Given the description of an element on the screen output the (x, y) to click on. 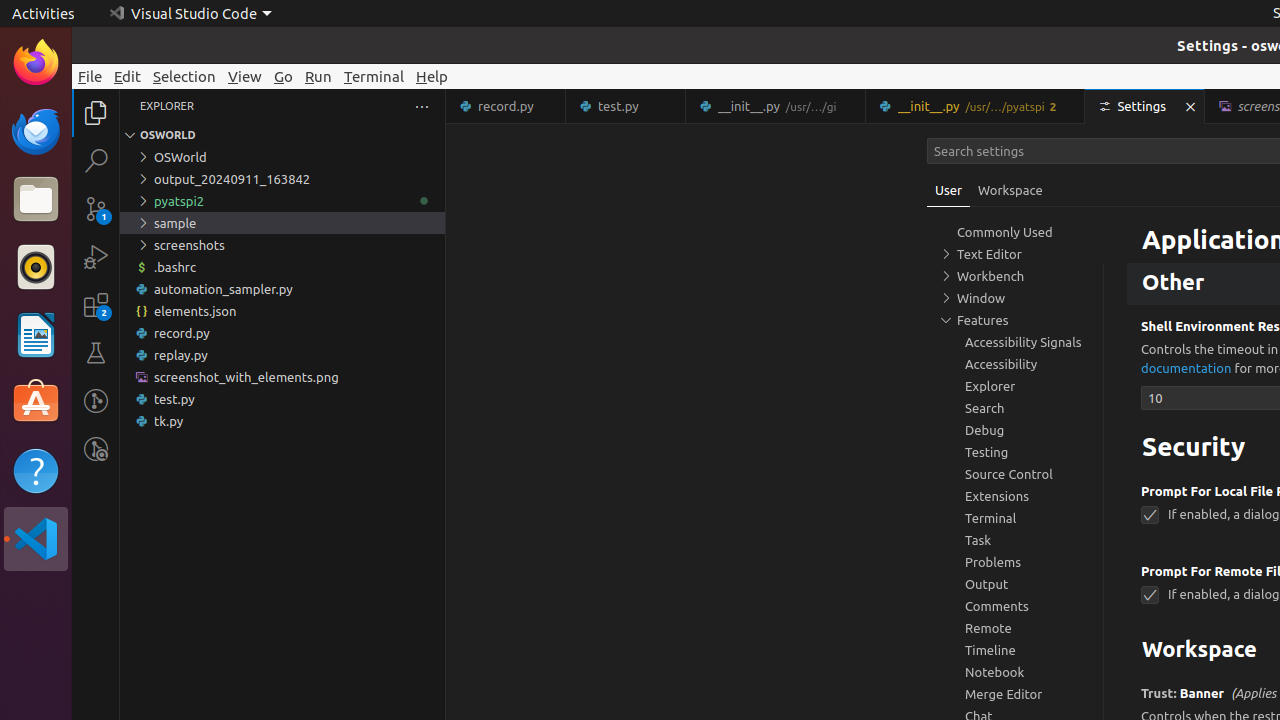
Commonly Used, group Element type: tree-item (1015, 232)
Testing, group Element type: tree-item (1015, 452)
